Given the description of an element on the screen output the (x, y) to click on. 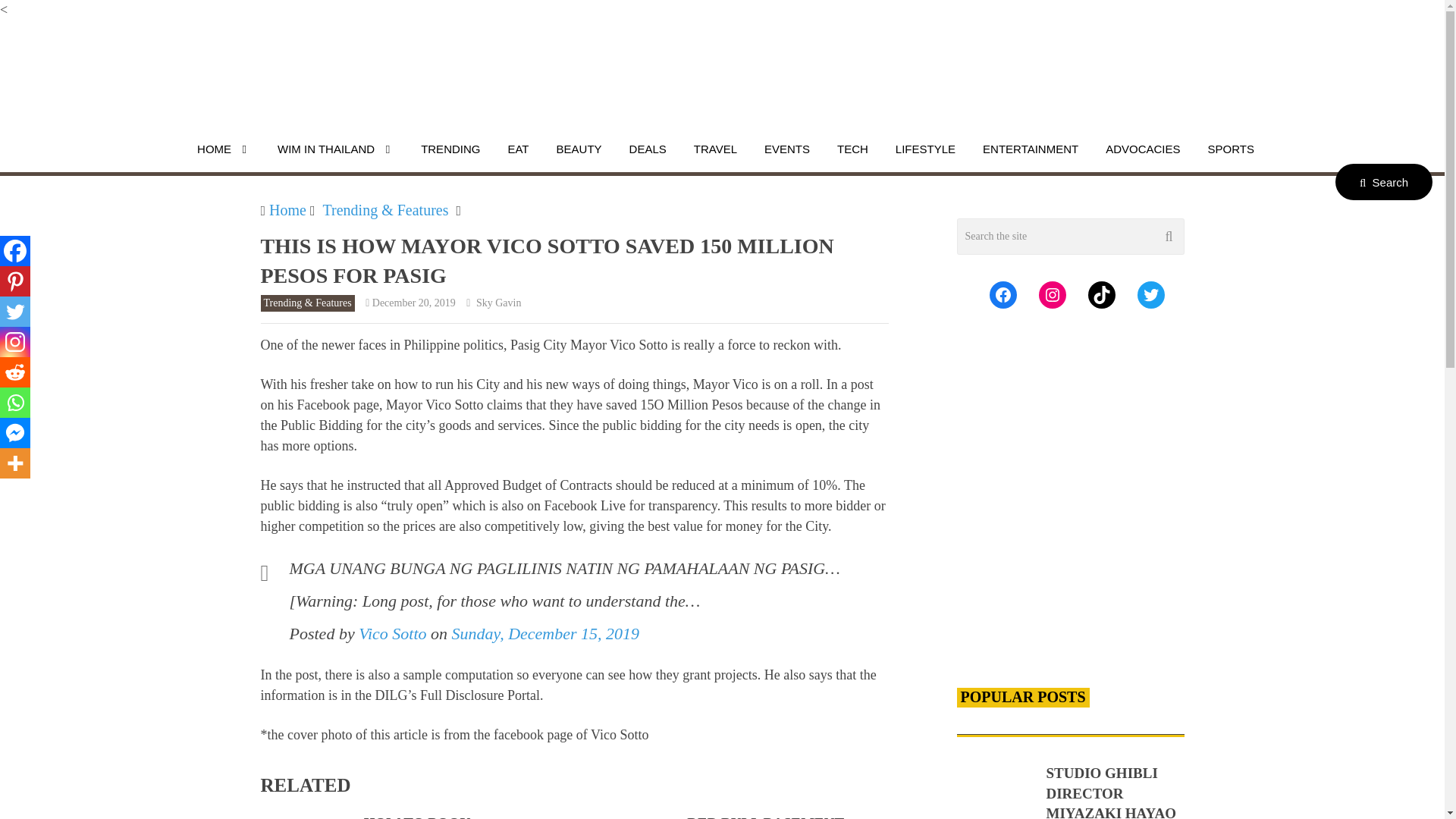
  Search (1383, 181)
Posts by Sky Gavin (498, 302)
Pinterest (15, 281)
Twitter (15, 311)
TRENDING (450, 148)
EAT (518, 148)
BEAUTY (578, 148)
More (15, 462)
Whatsapp (15, 402)
Reddit (15, 372)
